Given the description of an element on the screen output the (x, y) to click on. 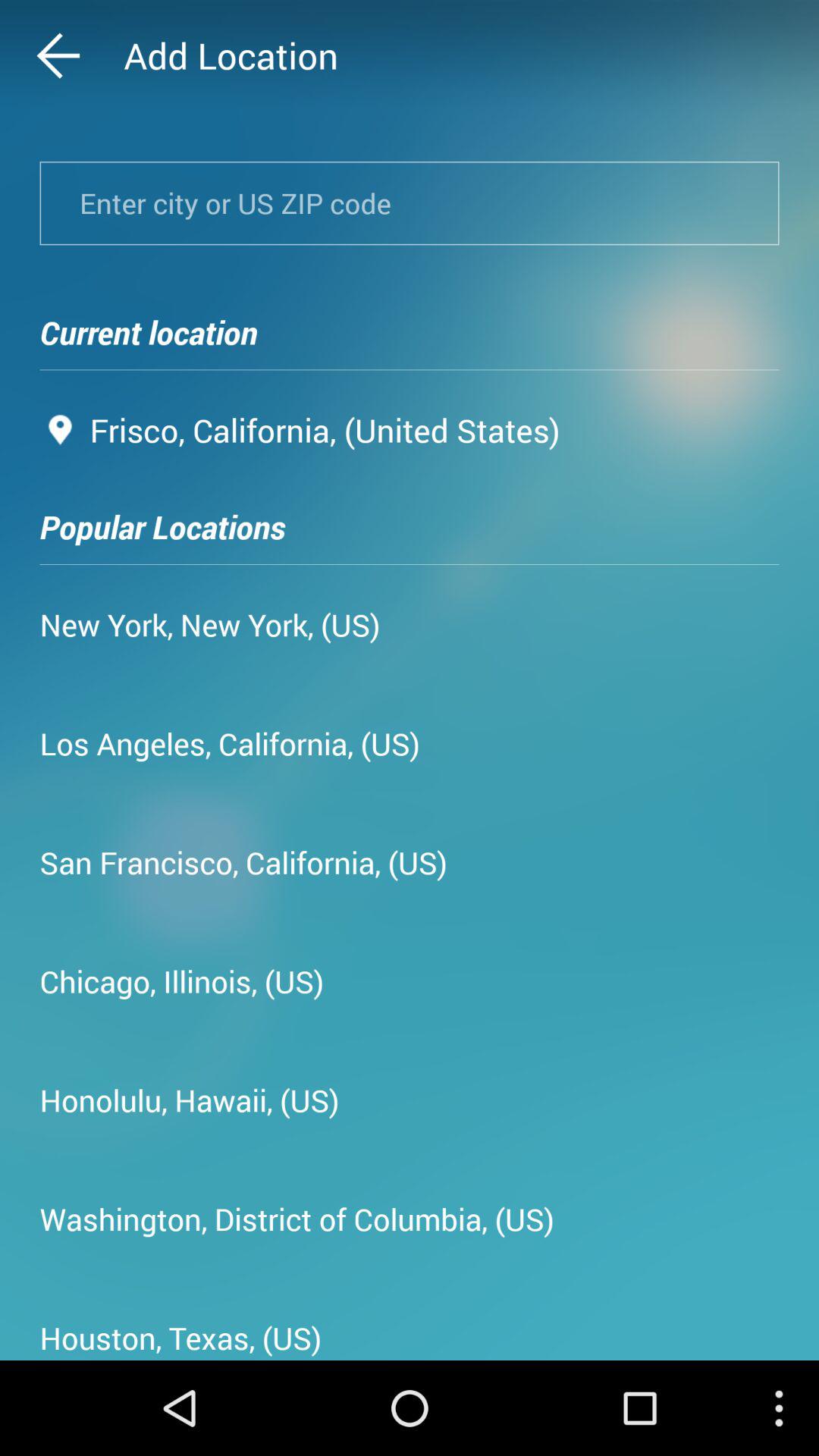
flip to the houston, texas, (us) item (180, 1332)
